Given the description of an element on the screen output the (x, y) to click on. 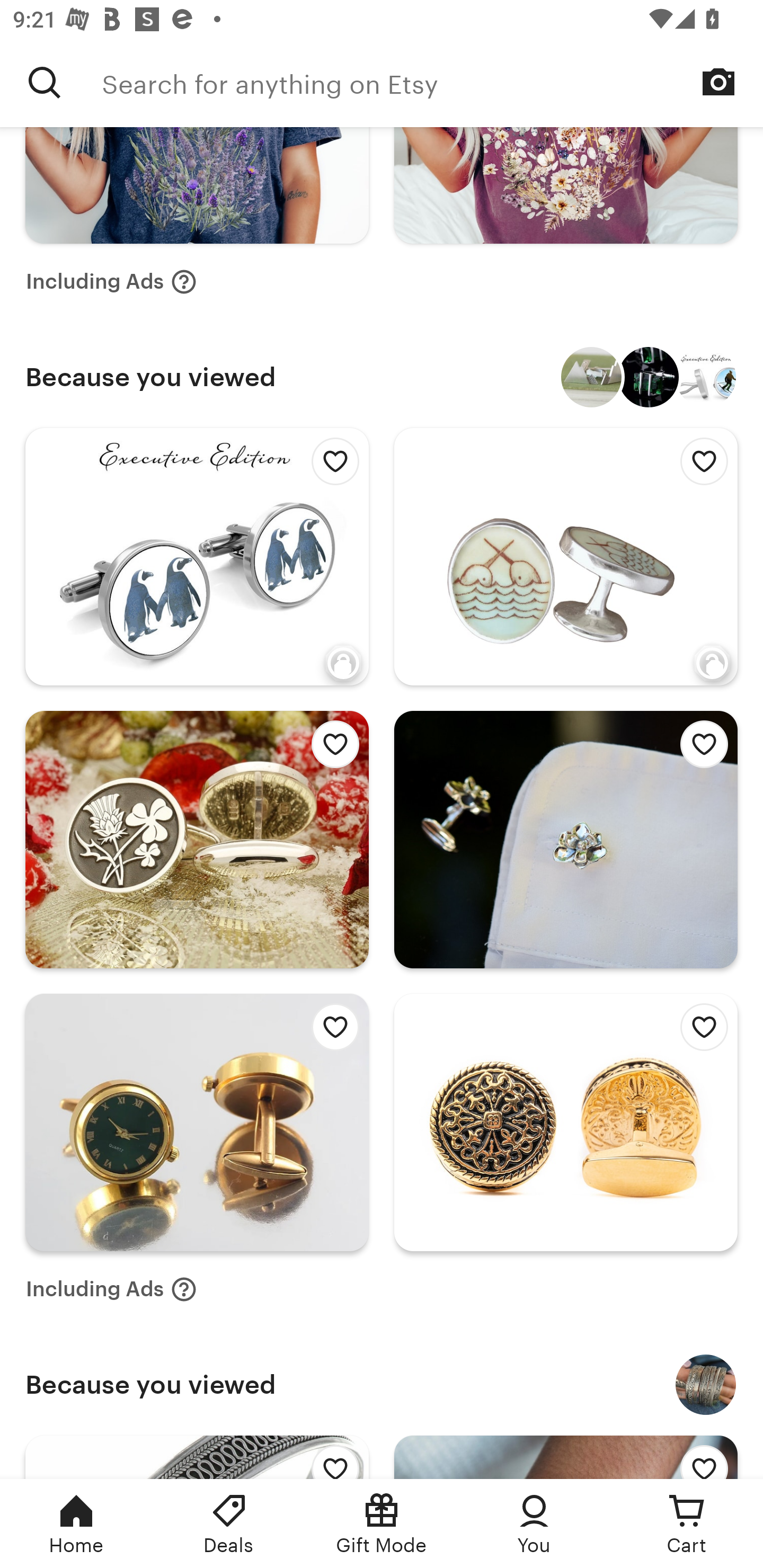
Search for anything on Etsy (44, 82)
Search by image (718, 81)
Search for anything on Etsy (432, 82)
Including Ads (111, 281)
Including Ads (111, 1289)
Deals (228, 1523)
Gift Mode (381, 1523)
You (533, 1523)
Cart (686, 1523)
